Given the description of an element on the screen output the (x, y) to click on. 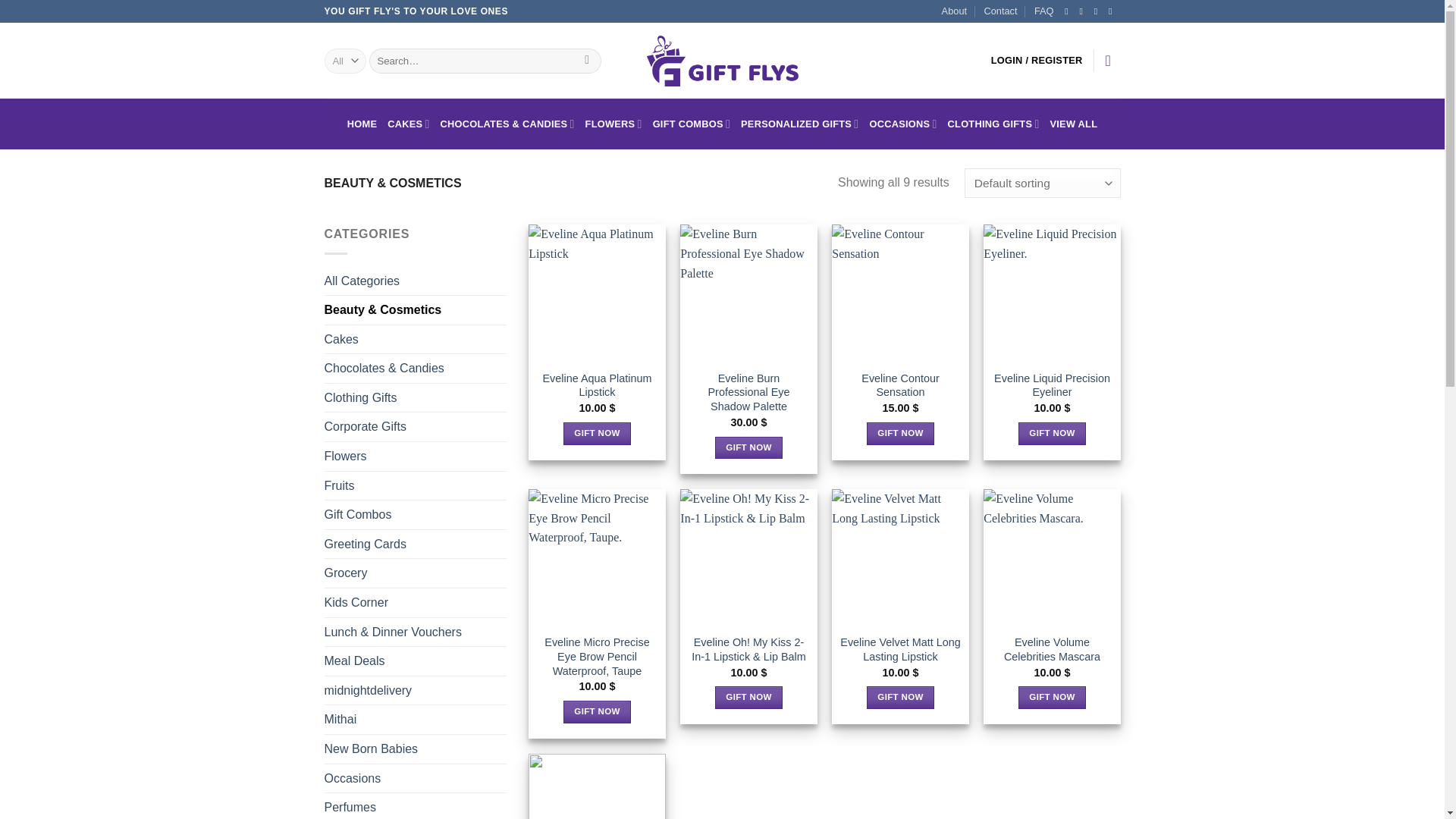
Contact (1000, 11)
Giftfly - Your gift fly to your love ones (721, 61)
Search (587, 61)
About (954, 11)
